Given the description of an element on the screen output the (x, y) to click on. 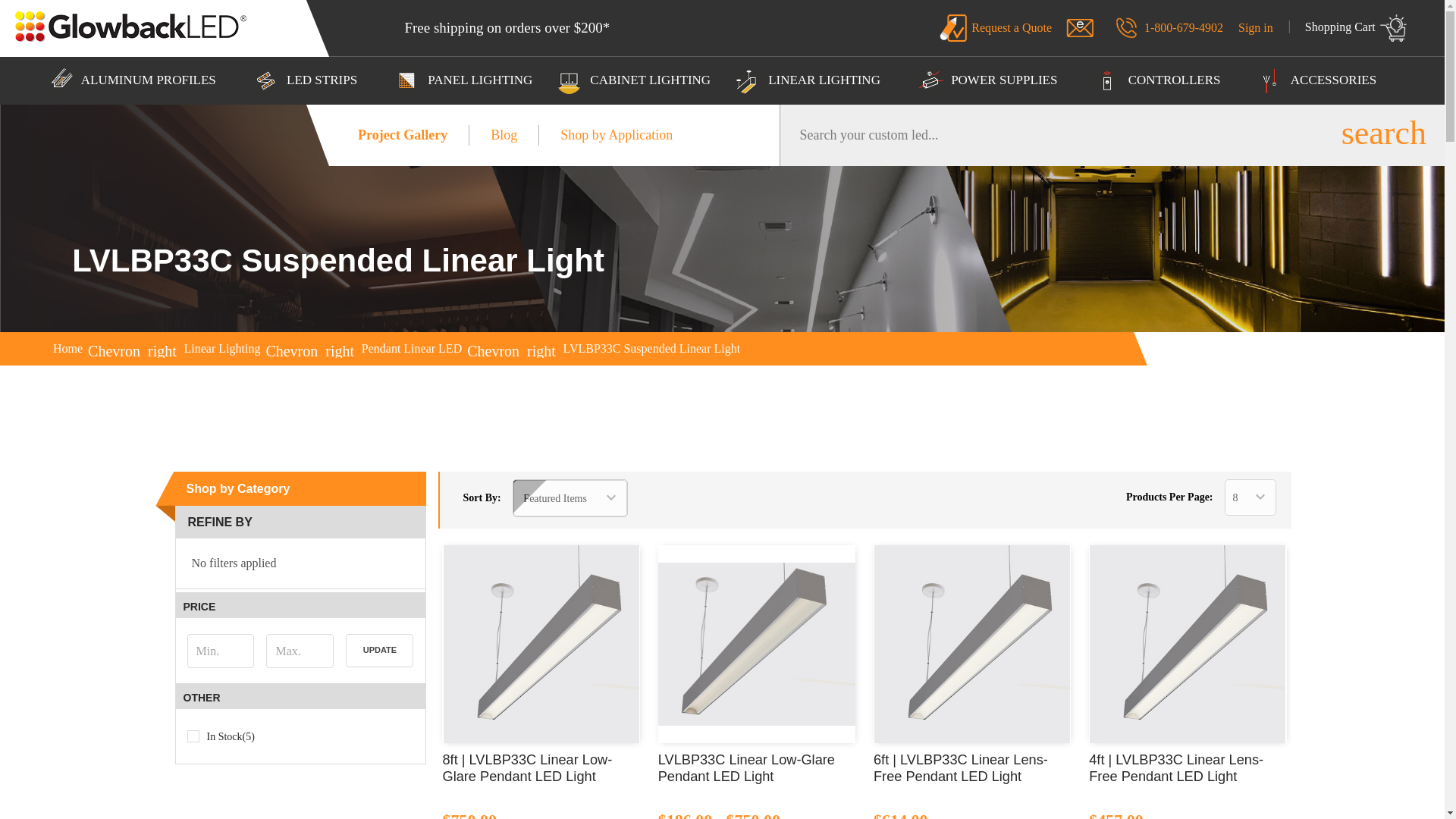
Request a Quote (953, 27)
LED STRIPS (311, 80)
Cart (1347, 27)
Shopping Cart (1347, 27)
Call Us: 18006794902 (1126, 27)
1-800-679-4902 (1168, 27)
Request a Quote (995, 27)
Sign in (1263, 27)
LVLBP33C Linear Low-Glare Pendant LED Light (757, 643)
ALUMINUM PROFILES (137, 80)
GlowbackLED Logo (130, 26)
